Given the description of an element on the screen output the (x, y) to click on. 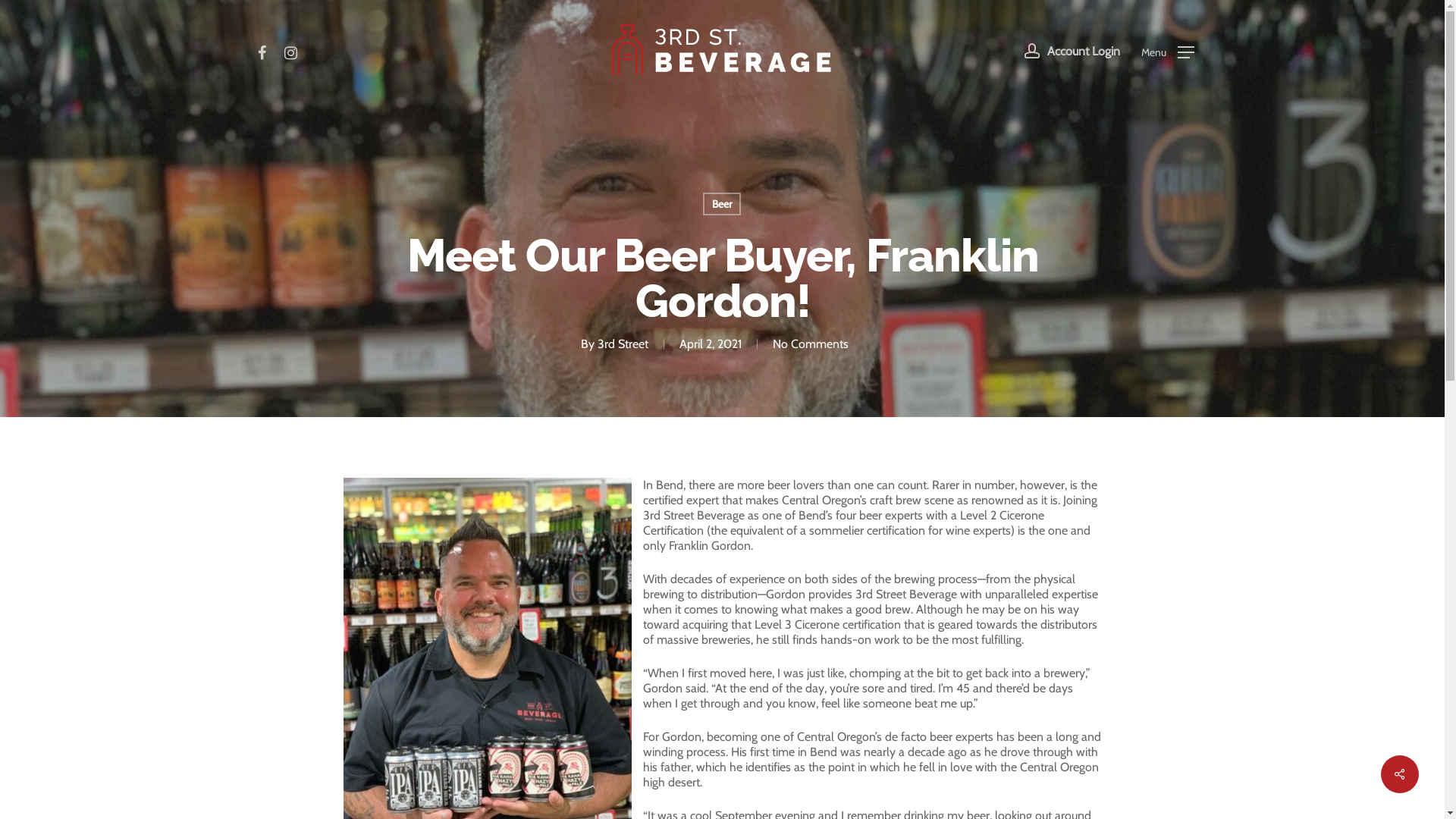
instagram Element type: text (290, 50)
account Element type: text (1031, 51)
Menu Element type: text (1167, 51)
Beer Element type: text (721, 203)
facebook Element type: text (261, 50)
3rd Street Element type: text (622, 343)
No Comments Element type: text (810, 343)
